Given the description of an element on the screen output the (x, y) to click on. 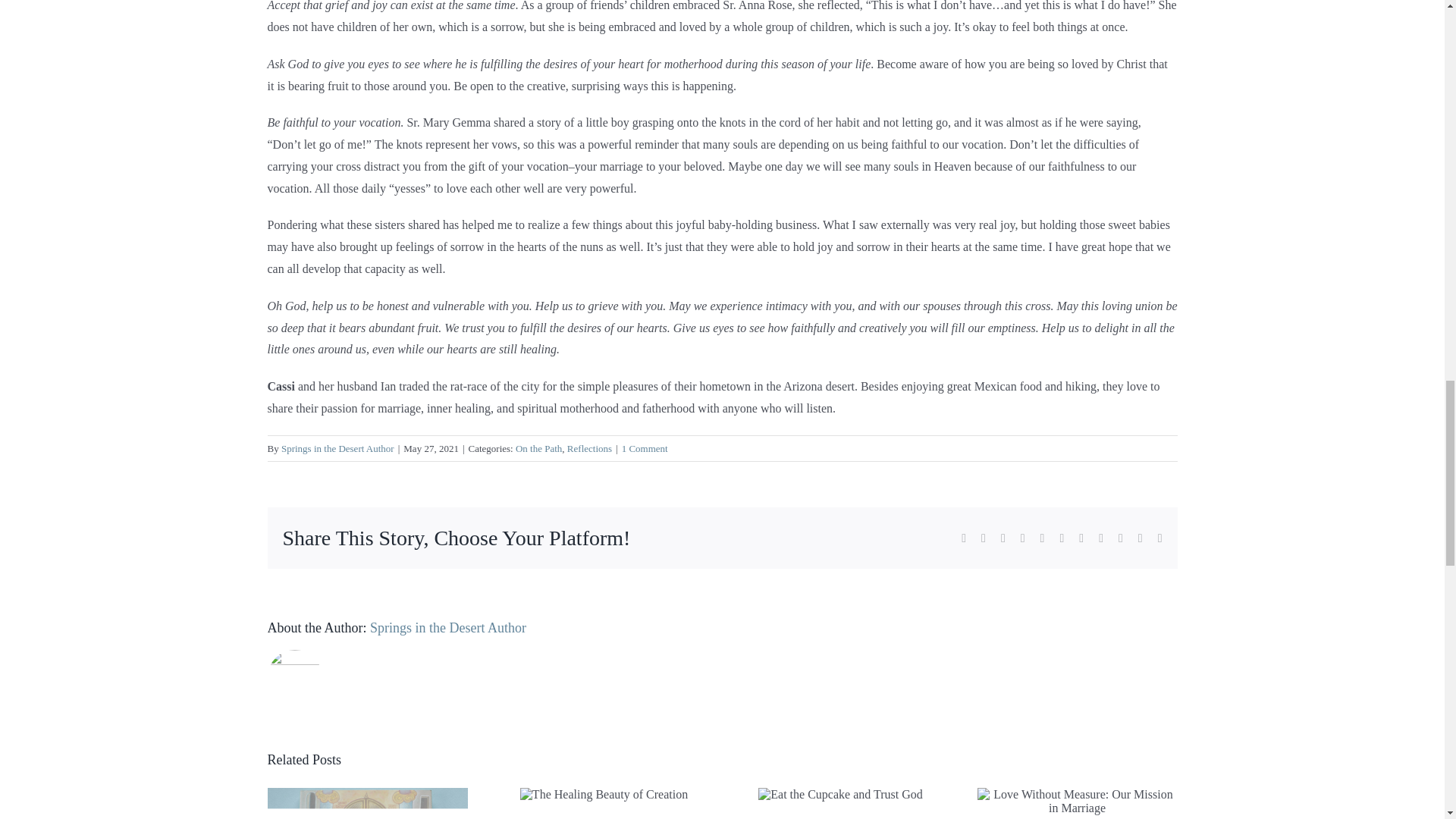
Reddit (1003, 538)
Posts by Springs in the Desert Author (337, 448)
Facebook (963, 538)
Twitter (983, 538)
LinkedIn (1022, 538)
